Given the description of an element on the screen output the (x, y) to click on. 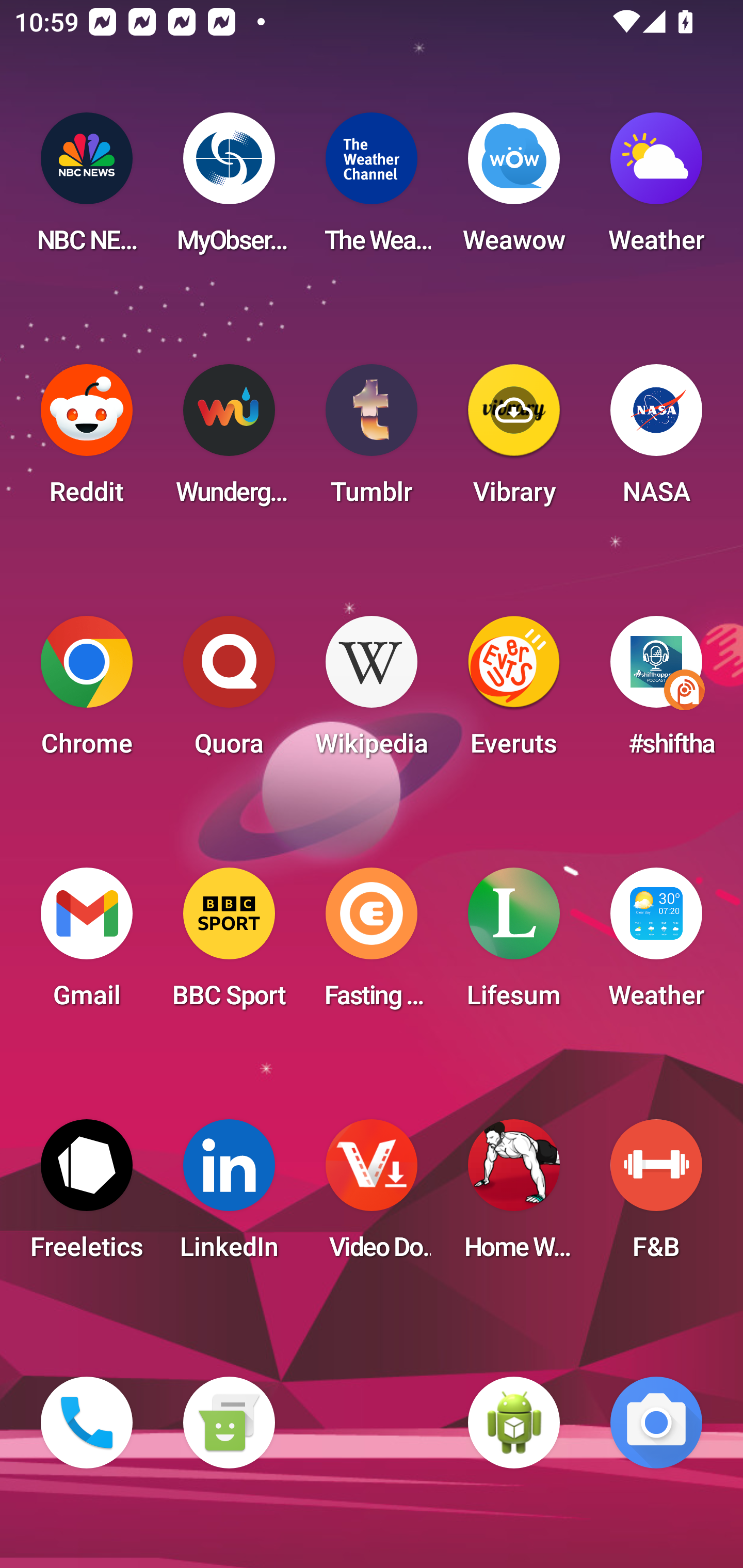
NBC NEWS (86, 188)
MyObservatory (228, 188)
The Weather Channel (371, 188)
Weawow (513, 188)
Weather (656, 188)
Reddit (86, 440)
Wunderground (228, 440)
Tumblr (371, 440)
Vibrary (513, 440)
NASA (656, 440)
Chrome (86, 692)
Quora (228, 692)
Wikipedia (371, 692)
Everuts (513, 692)
#shifthappens in the Digital Workplace Podcast (656, 692)
Gmail (86, 943)
BBC Sport (228, 943)
Fasting Coach (371, 943)
Lifesum (513, 943)
Weather (656, 943)
Freeletics (86, 1195)
LinkedIn (228, 1195)
Video Downloader & Ace Player (371, 1195)
Home Workout (513, 1195)
F&B (656, 1195)
Phone (86, 1422)
Messaging (228, 1422)
WebView Browser Tester (513, 1422)
Camera (656, 1422)
